Given the description of an element on the screen output the (x, y) to click on. 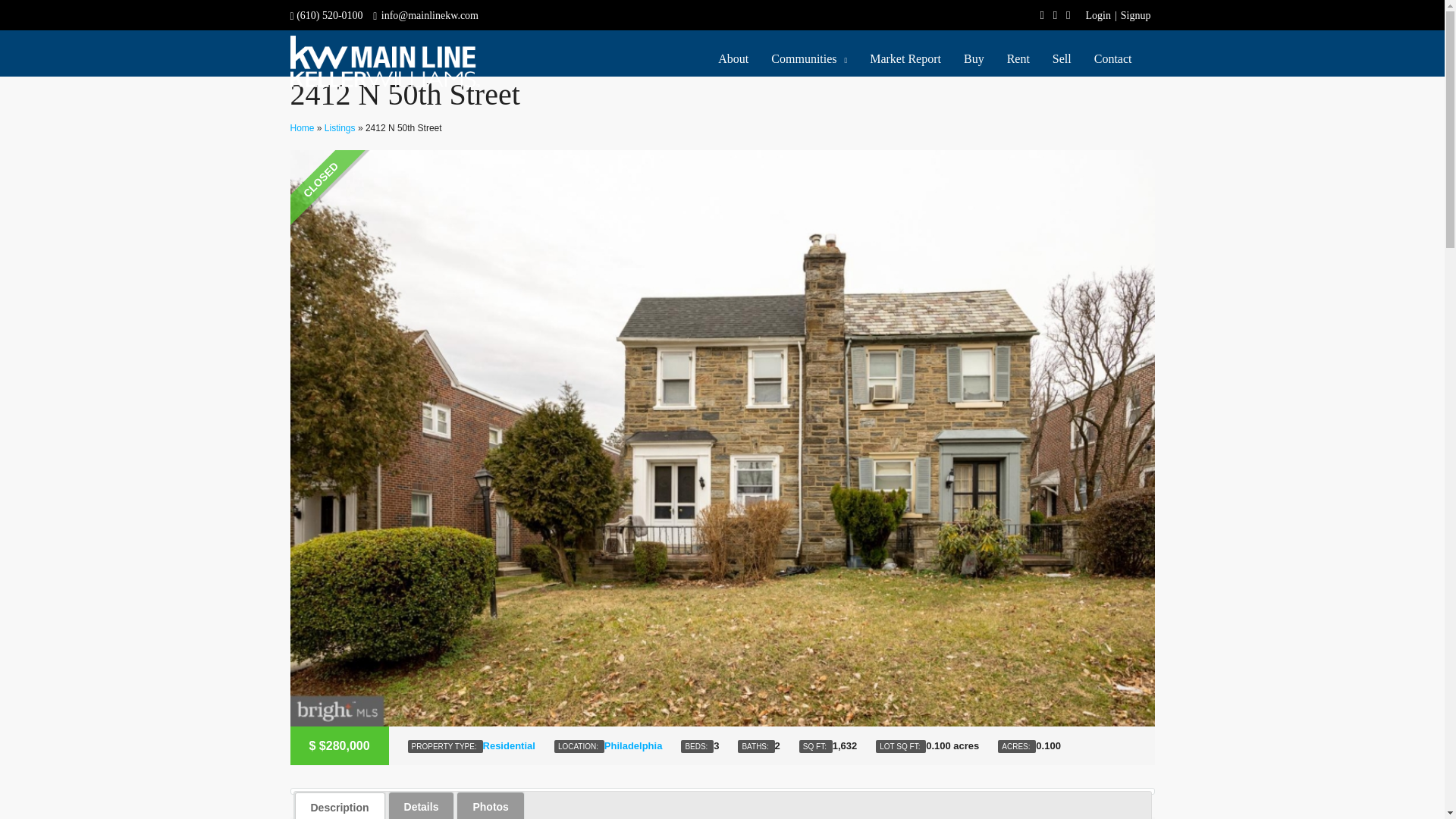
Signup (1135, 15)
About (733, 58)
Communities (809, 59)
Login (1098, 15)
